Given the description of an element on the screen output the (x, y) to click on. 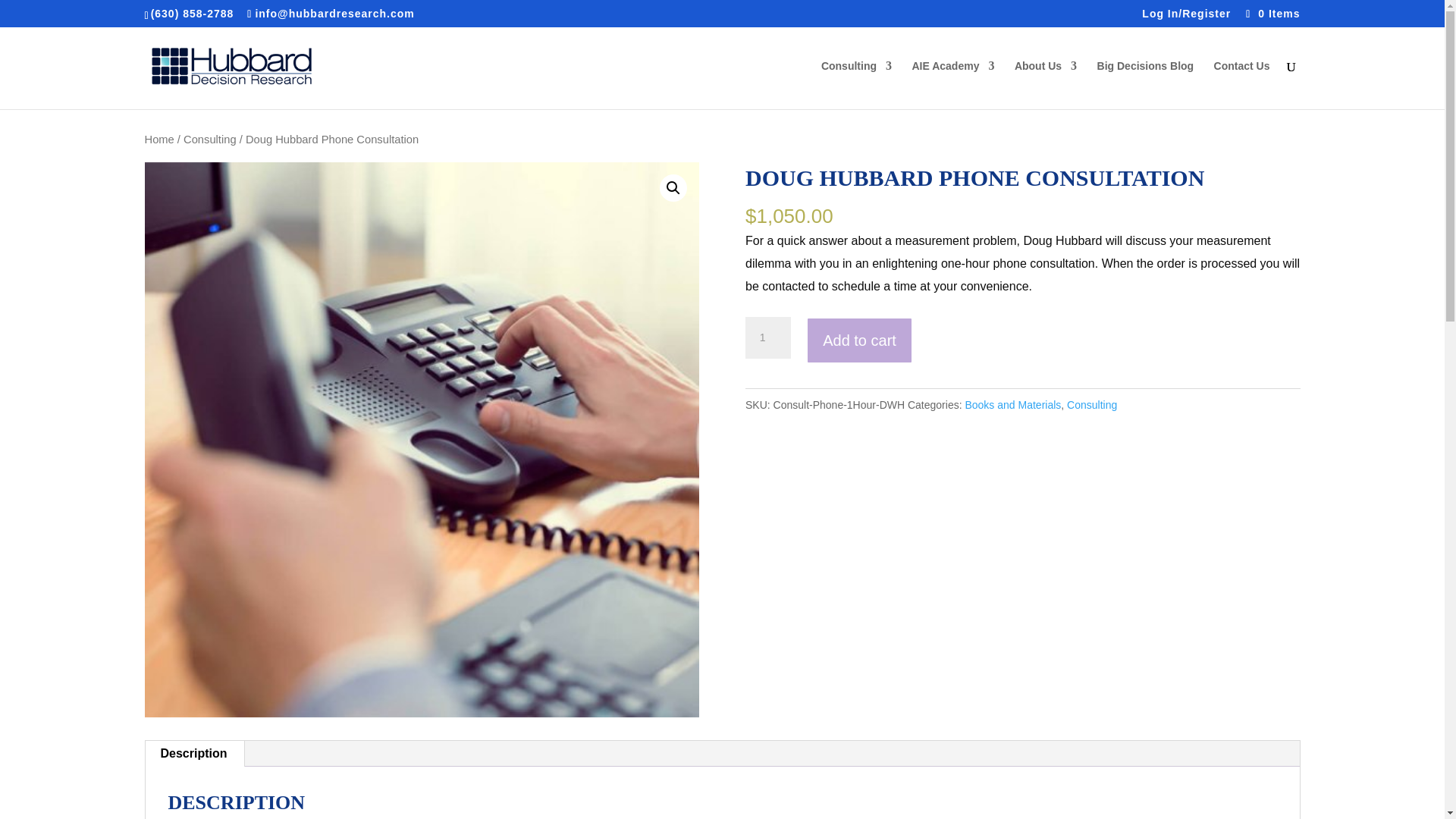
Consulting (856, 84)
Books and Materials (1012, 404)
Add to cart (859, 340)
Contact Us (1241, 84)
About Us (1045, 84)
Consulting (1091, 404)
0 Items (1270, 13)
Consulting (209, 139)
AIE Academy (952, 84)
Home (158, 139)
Big Decisions Blog (1145, 84)
Description (194, 753)
1 (767, 337)
